Given the description of an element on the screen output the (x, y) to click on. 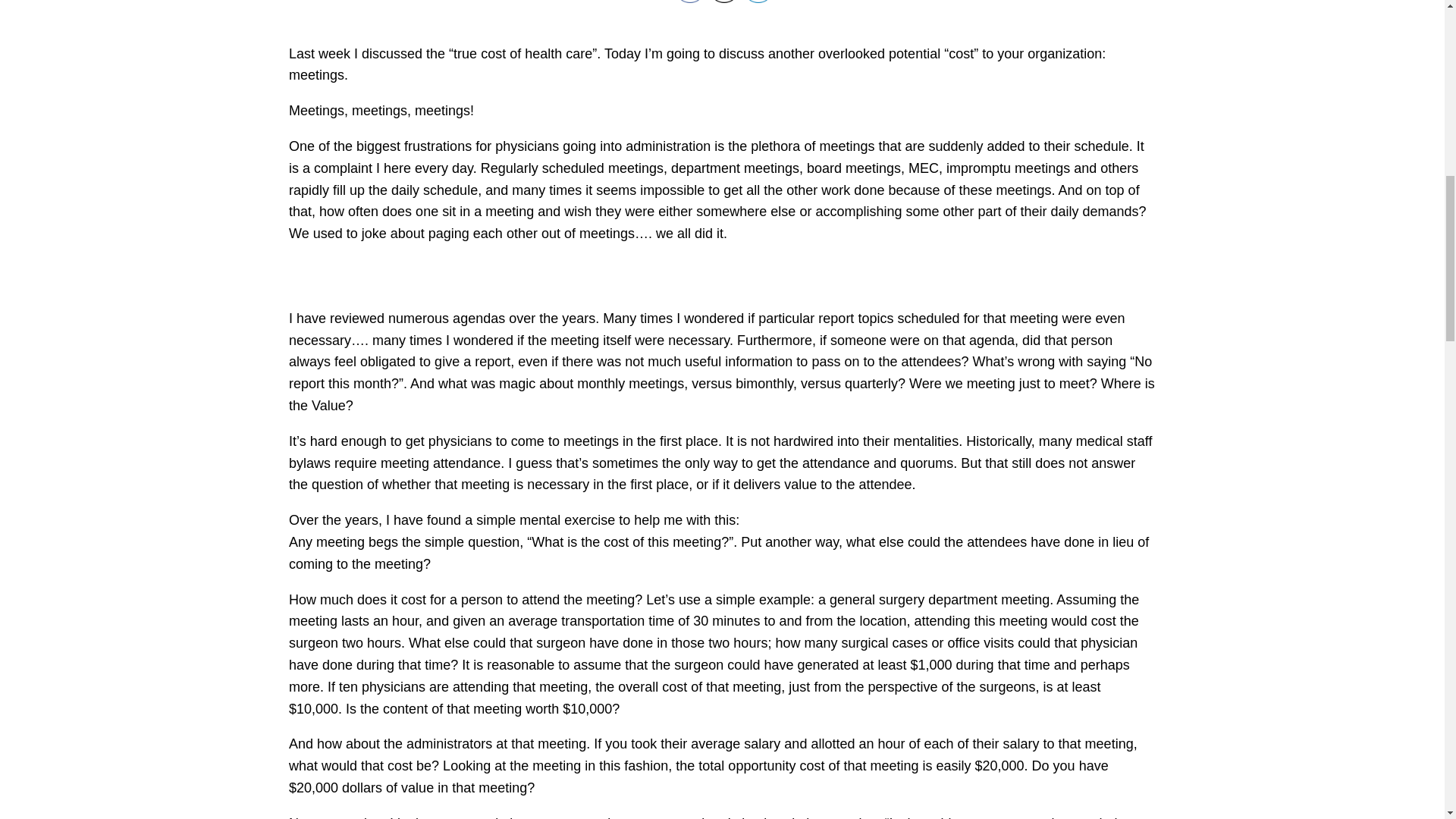
Facebook (689, 1)
LinkedIn (757, 1)
